Given the description of an element on the screen output the (x, y) to click on. 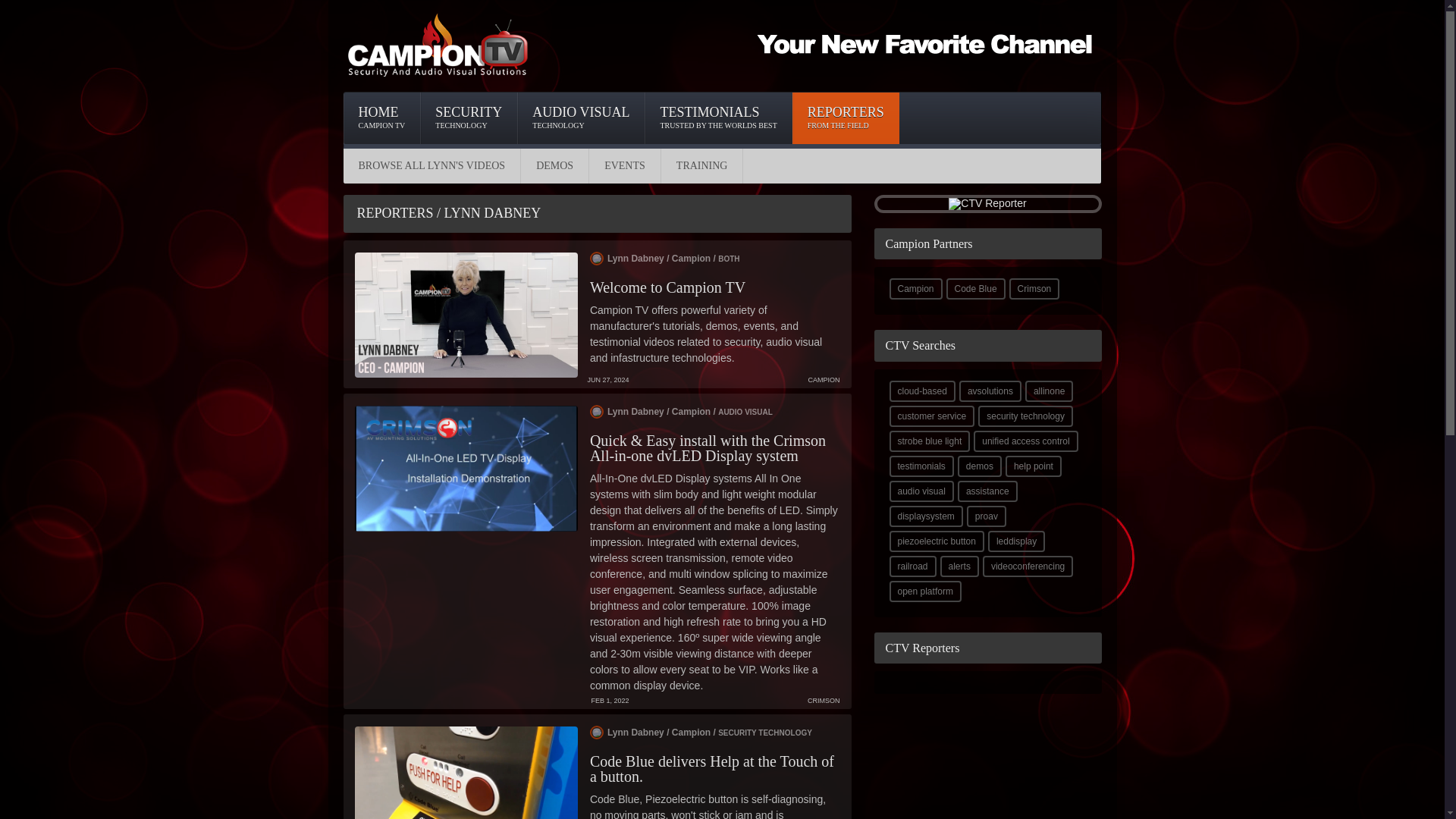
customer service (718, 118)
EVENTS (931, 415)
help point (845, 118)
DEMOS (625, 165)
TRAINING (1033, 465)
Welcome to Campion TV (554, 165)
testimonials (701, 165)
Lynn Dabney (667, 287)
BROWSE ALL LYNN'S VIDEOS (920, 465)
Campion (681, 411)
cloud-based (430, 165)
security technology (915, 288)
